Given the description of an element on the screen output the (x, y) to click on. 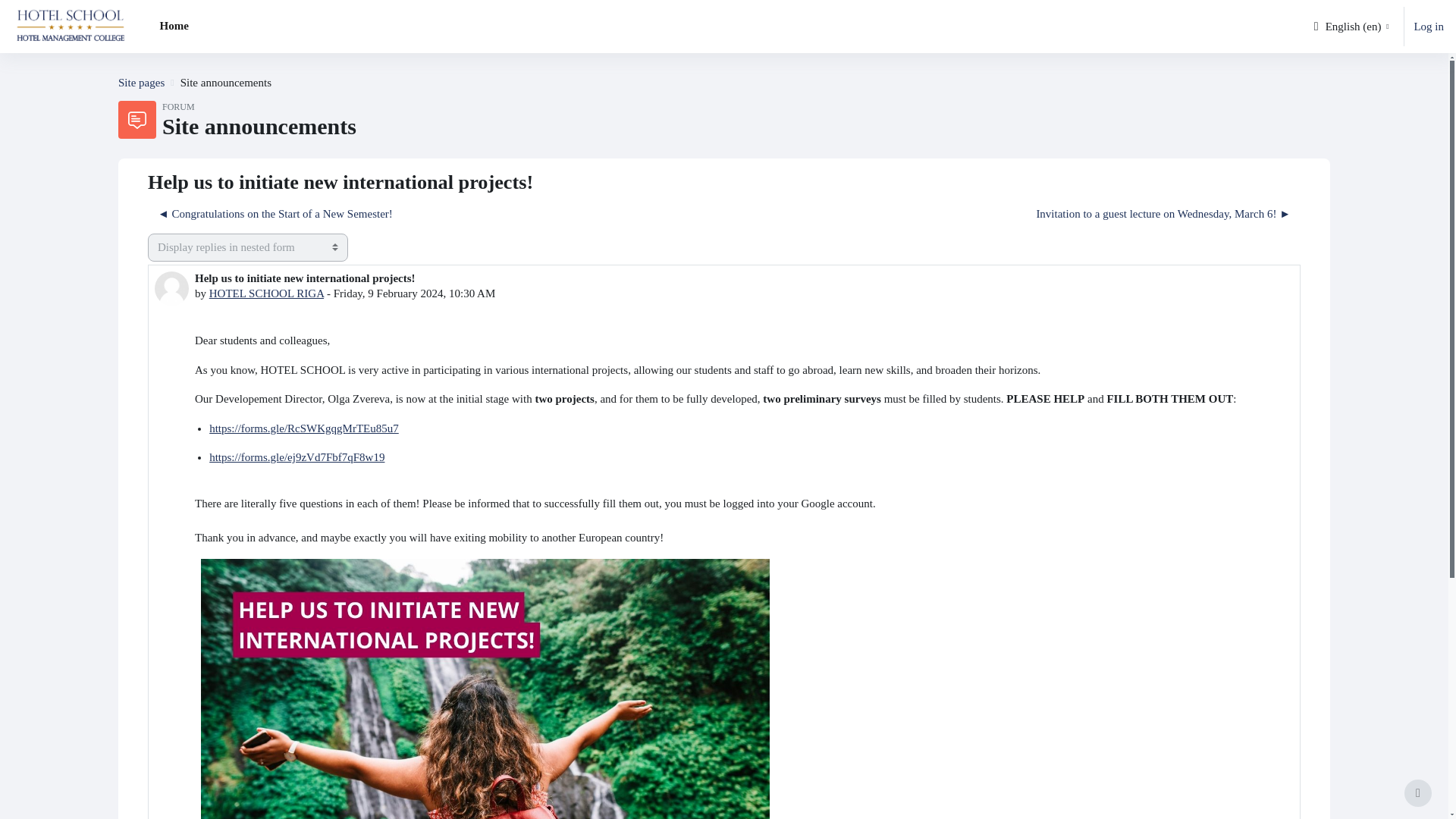
"HOTEL SCHOOL" Hotel Management College E-Studies (140, 82)
HOTEL SCHOOL RIGA (266, 292)
Site pages (140, 82)
Log in (1428, 27)
Picture of HOTEL SCHOOL RIGA (171, 288)
